Given the description of an element on the screen output the (x, y) to click on. 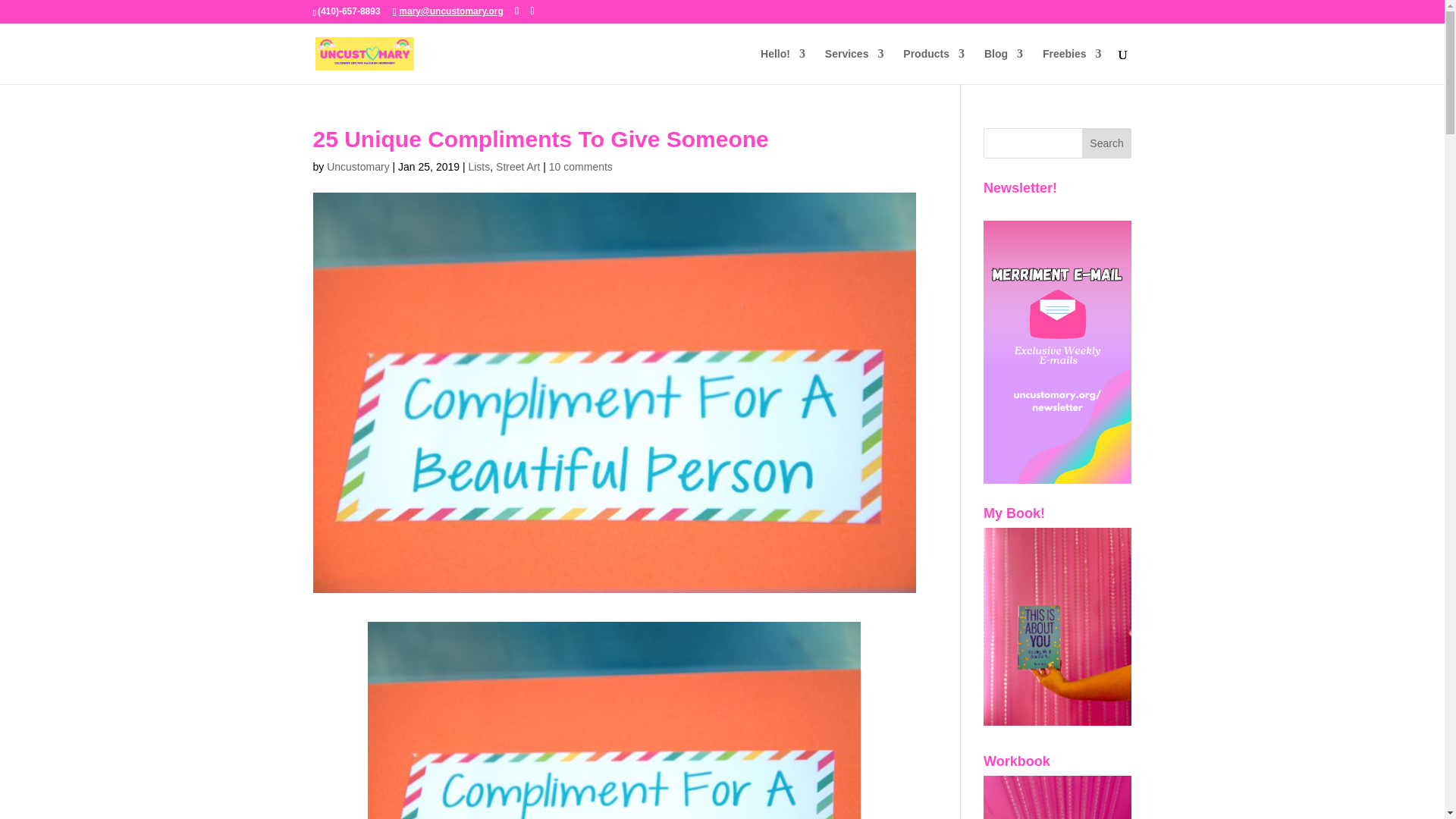
Blog (1003, 66)
Services (854, 66)
Products (932, 66)
Freebies (1072, 66)
Search (1106, 142)
Hello! (782, 66)
Posts by Uncustomary (357, 166)
